Given the description of an element on the screen output the (x, y) to click on. 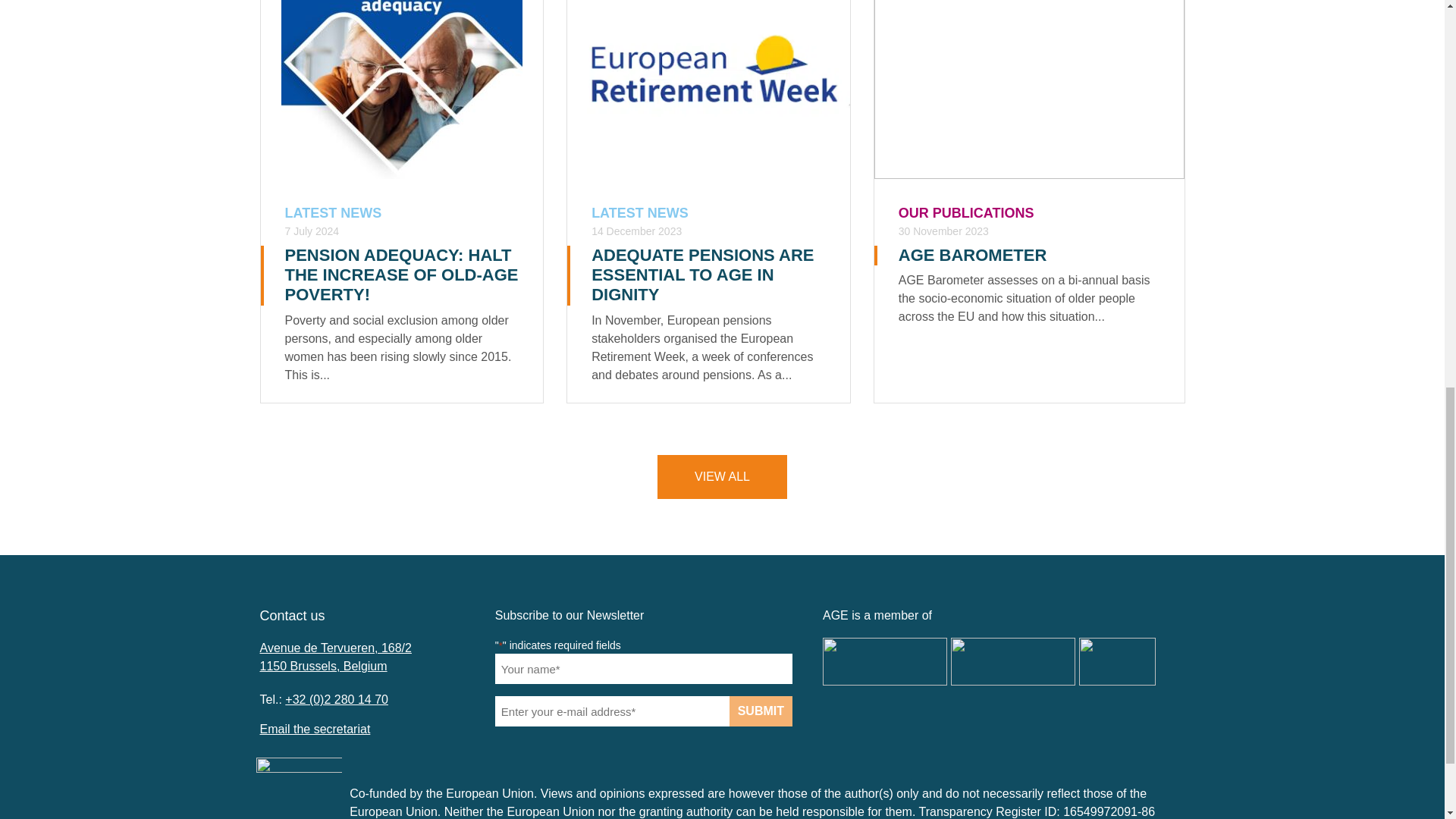
VIEW ALL (722, 476)
Submit (760, 711)
ADEQUATE PENSIONS ARE ESSENTIAL TO AGE IN DIGNITY (702, 274)
AGE BAROMETER (972, 254)
Email the secretariat (314, 728)
PENSION ADEQUACY: HALT THE INCREASE OF OLD-AGE POVERTY! (401, 274)
